Given the description of an element on the screen output the (x, y) to click on. 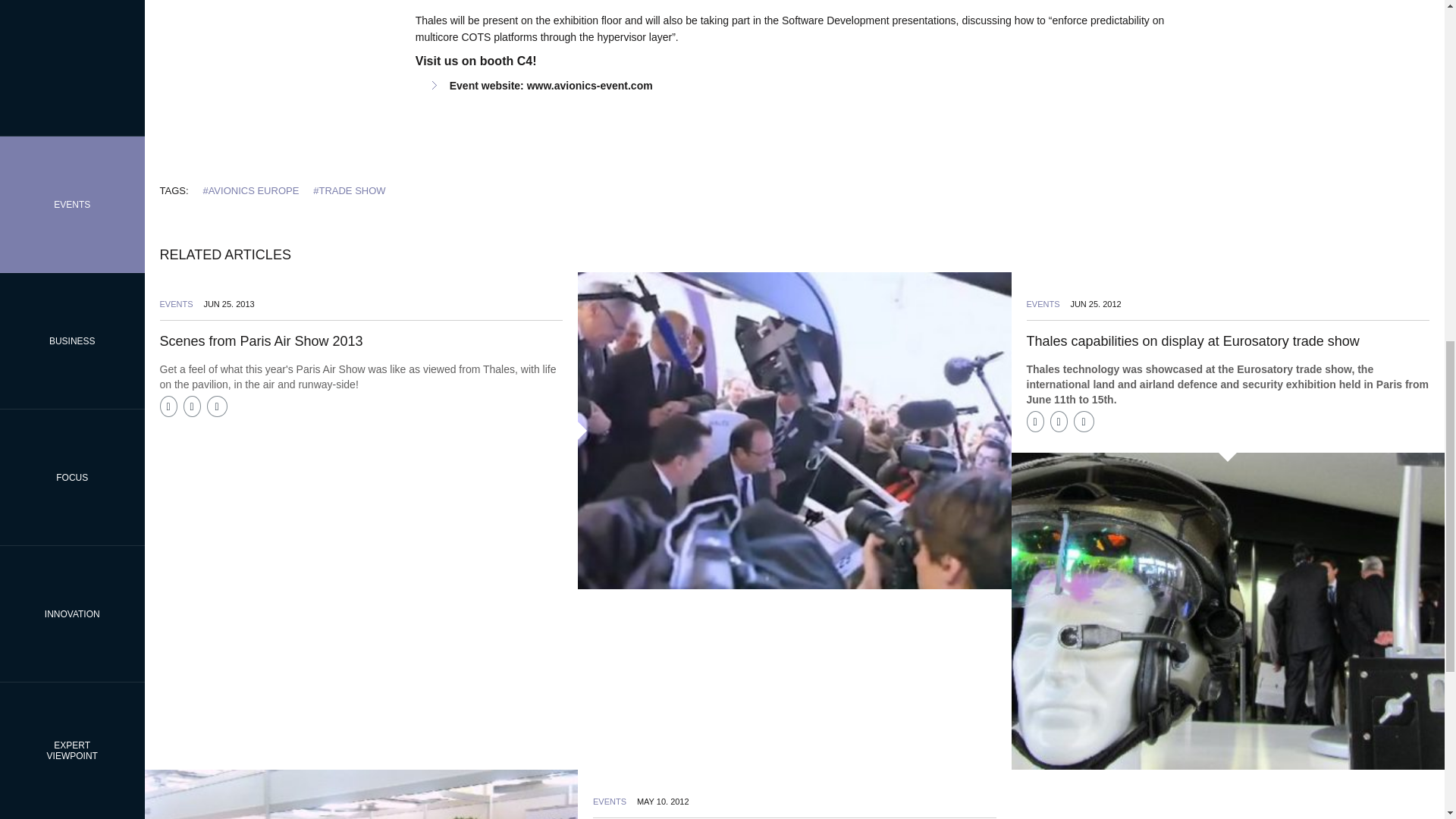
Scenes from Paris Air Show 2013 (260, 340)
www.avionics-event.com (589, 85)
EVENTS (175, 303)
